Given the description of an element on the screen output the (x, y) to click on. 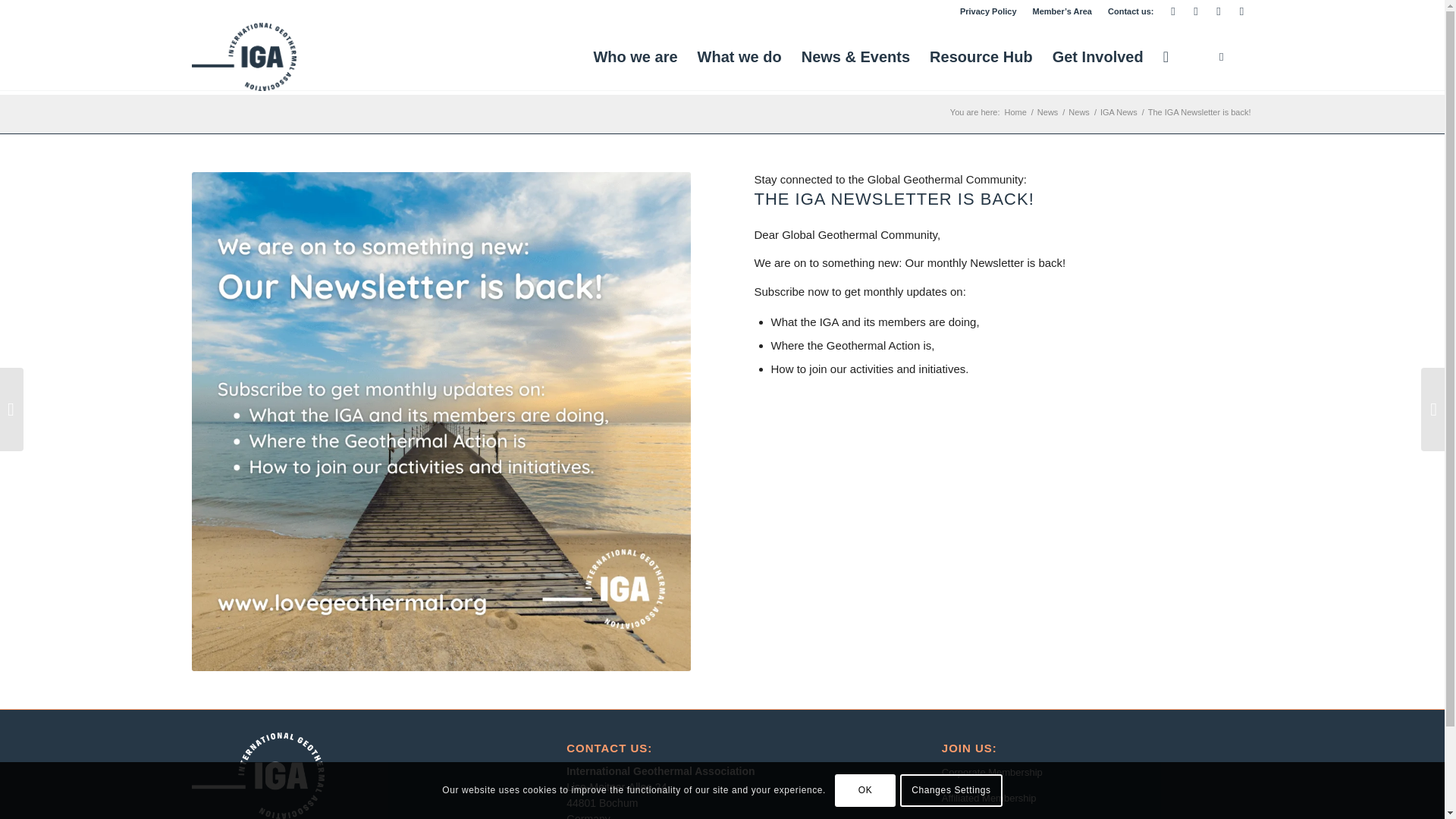
Rss (1241, 11)
Get Involved (1097, 56)
Who we are (635, 56)
Resource Hub (981, 56)
News (1048, 112)
Privacy Policy (987, 11)
Mail (1172, 11)
LinkedIn (1196, 11)
Contact us: (1131, 11)
What we do (739, 56)
International Geothermal Association (1016, 112)
Youtube (1217, 11)
